Given the description of an element on the screen output the (x, y) to click on. 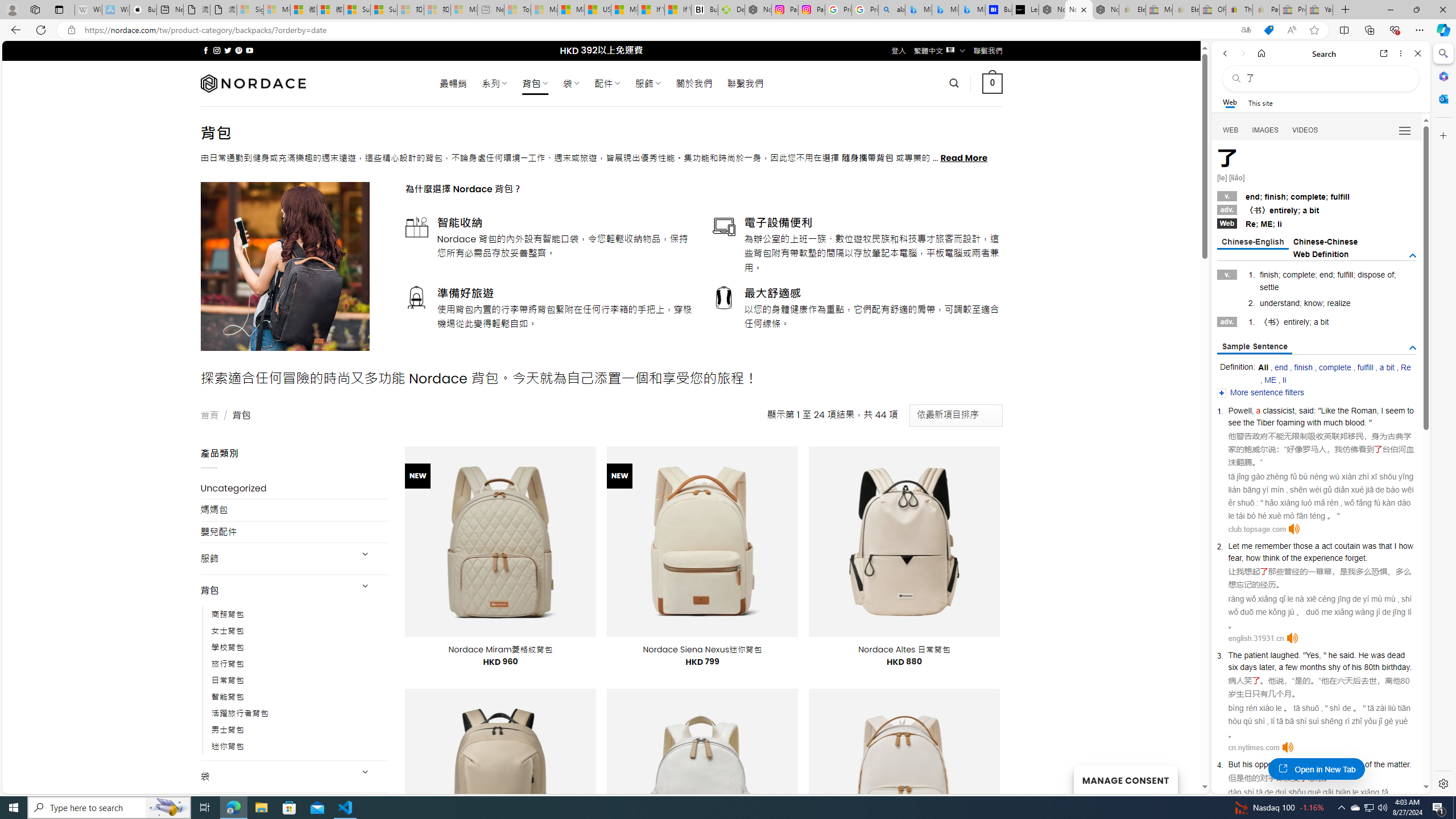
: (1314, 410)
But (1233, 764)
opponent (1271, 764)
Top Stories - MSN - Sleeping (517, 9)
